Given the description of an element on the screen output the (x, y) to click on. 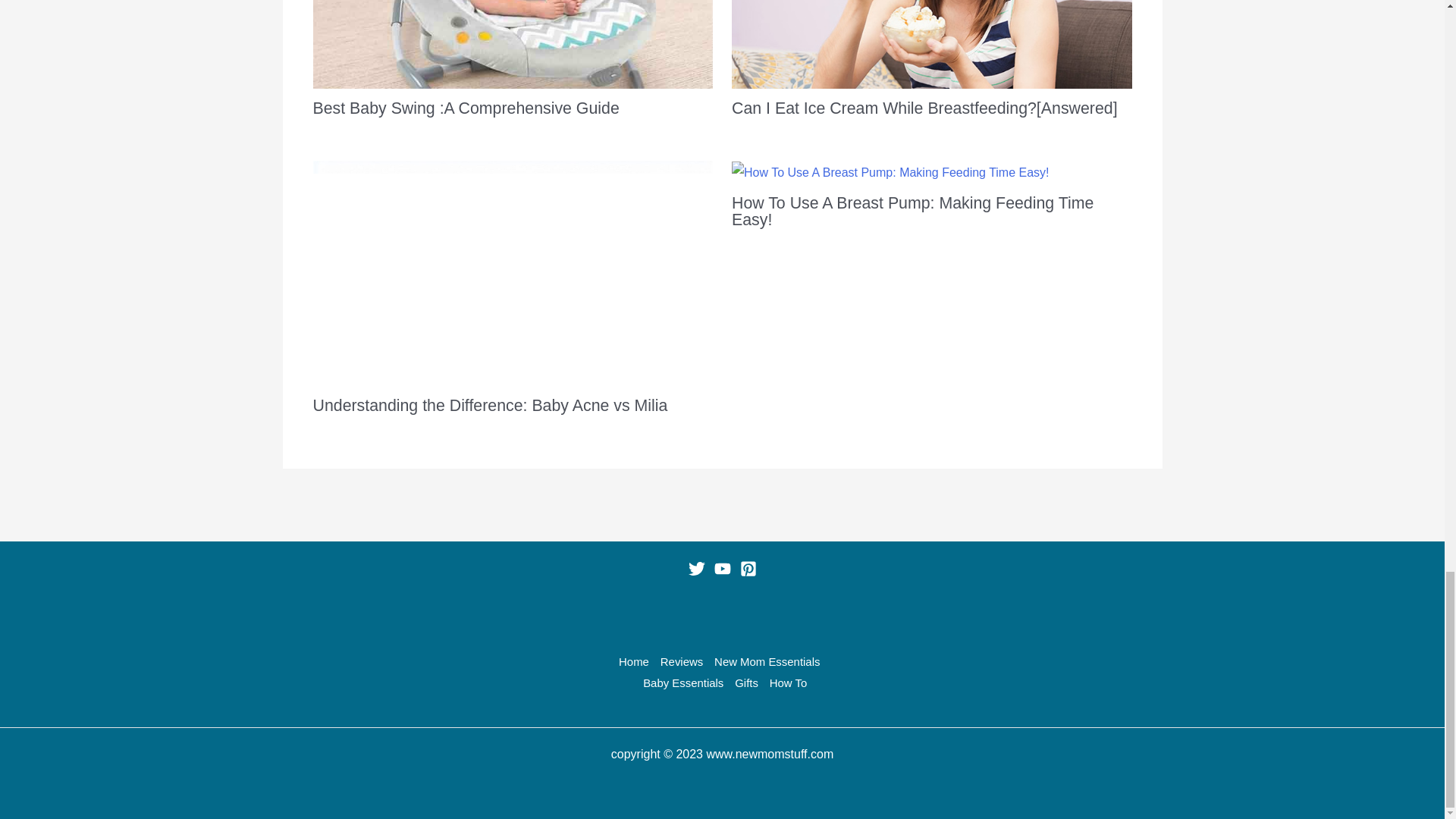
Understanding the Difference: Baby Acne vs Milia (489, 405)
How To Use A Breast Pump: Making Feeding Time Easy! (912, 211)
Best Baby Swing :A Comprehensive Guide (465, 108)
